Given the description of an element on the screen output the (x, y) to click on. 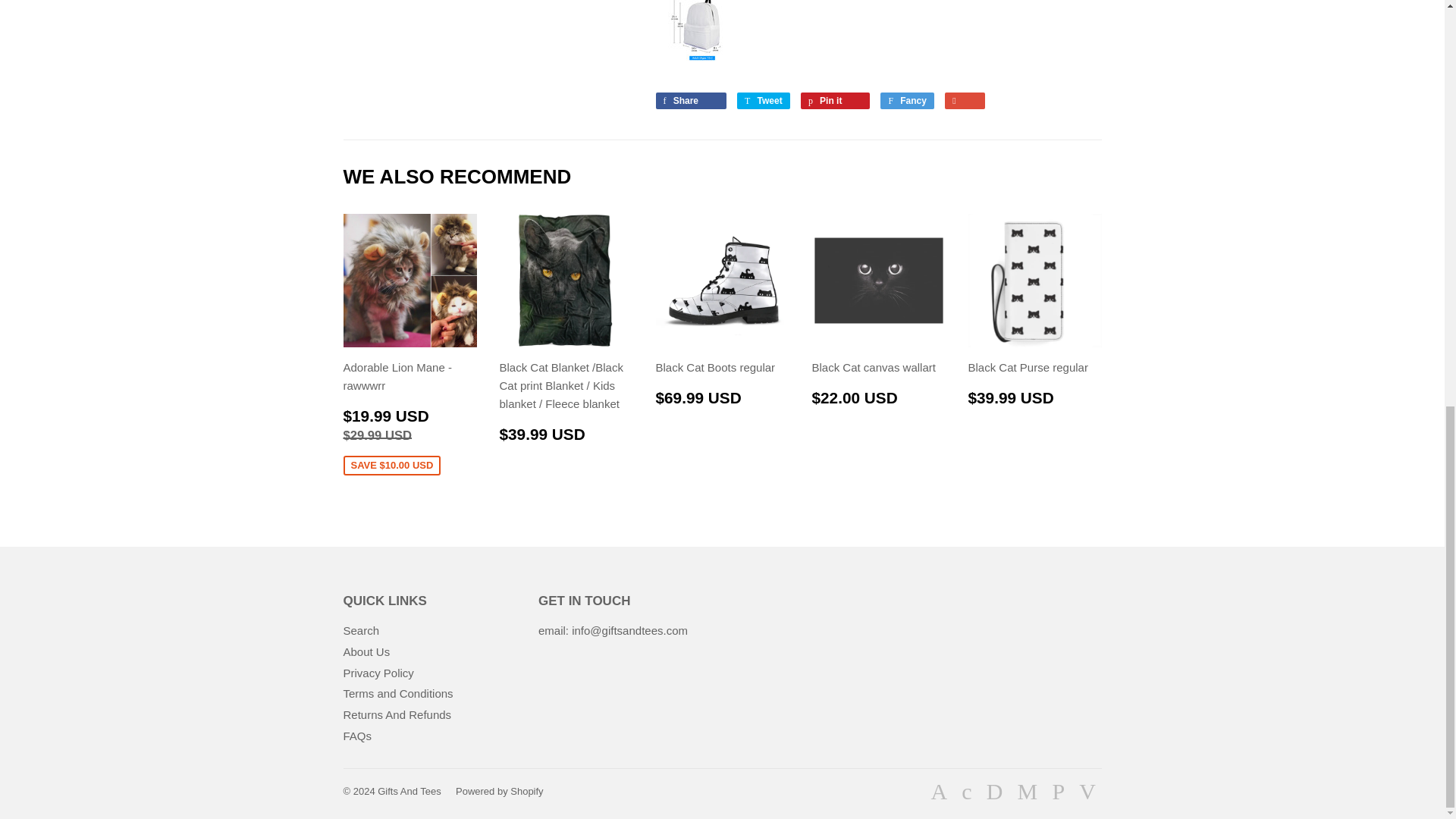
Add to Fancy (907, 100)
Share on Facebook (763, 100)
Tweet on Twitter (690, 100)
Pin on Pinterest (763, 100)
